Given the description of an element on the screen output the (x, y) to click on. 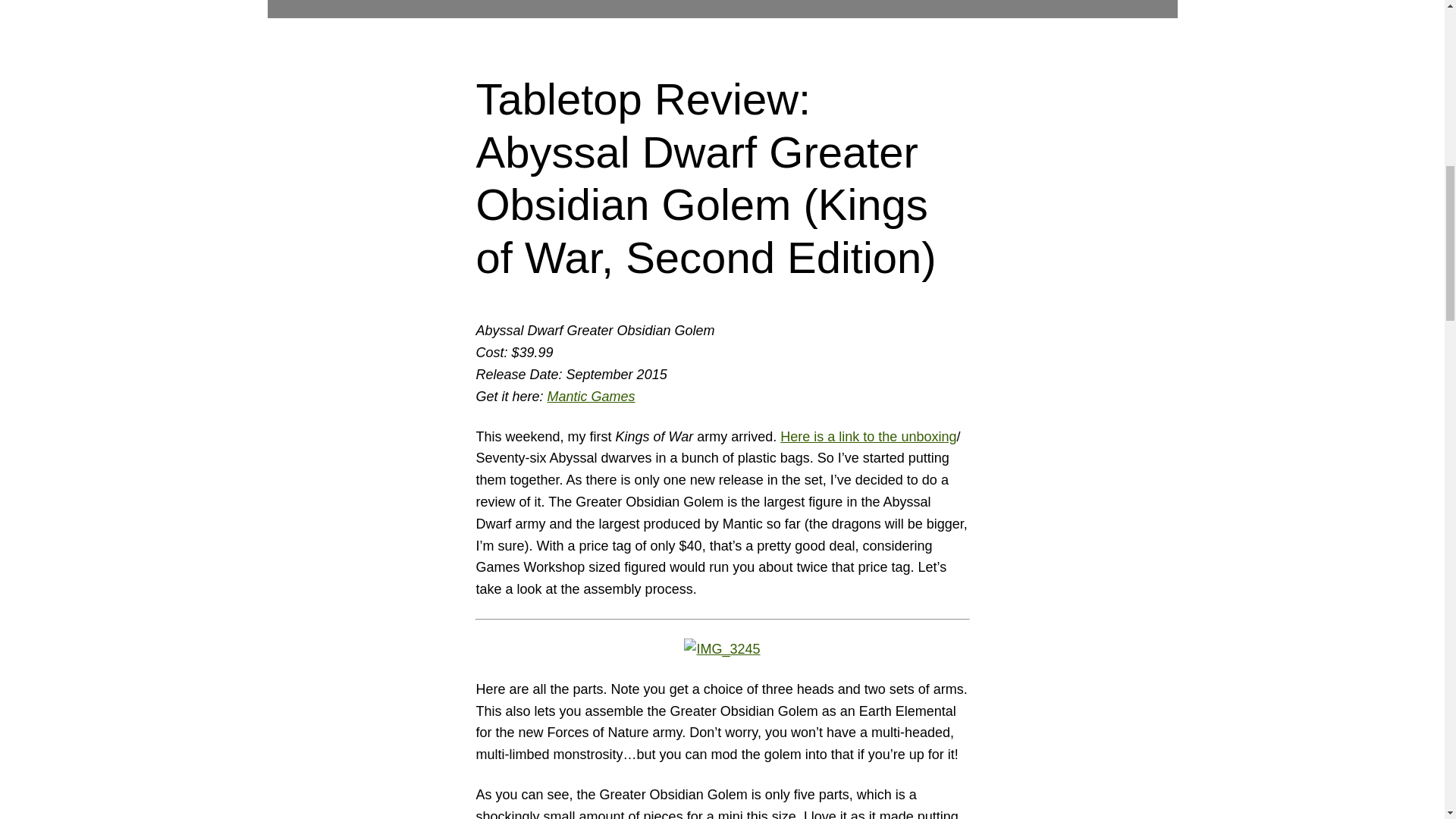
Mantic Games (590, 396)
Here is a link to the unboxing (868, 436)
